Given the description of an element on the screen output the (x, y) to click on. 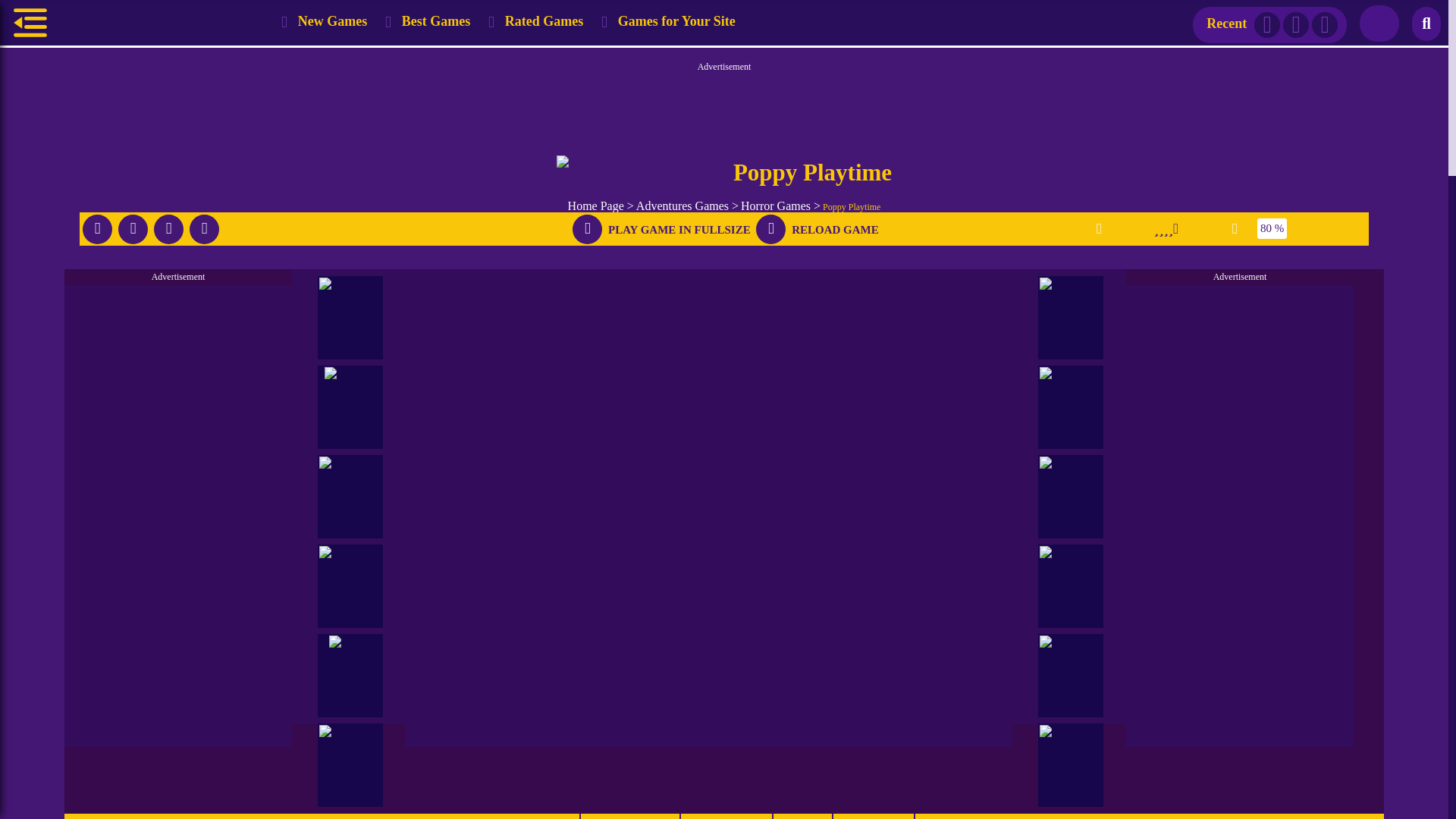
Games for Your Site (668, 22)
Games for your Site (668, 22)
Rated Games (536, 22)
Add to Chrome (1379, 22)
Played Games (428, 22)
Kiz10 Games (158, 22)
New Games (325, 22)
Google Extension (1379, 23)
Rated Games (536, 22)
Best Games (428, 22)
New Games (325, 22)
